Given the description of an element on the screen output the (x, y) to click on. 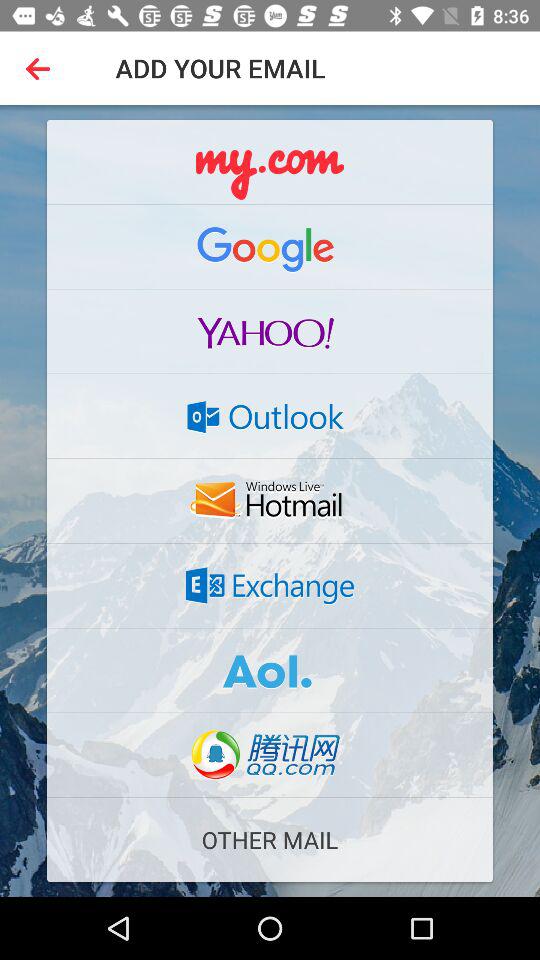
this label email option (269, 670)
